Given the description of an element on the screen output the (x, y) to click on. 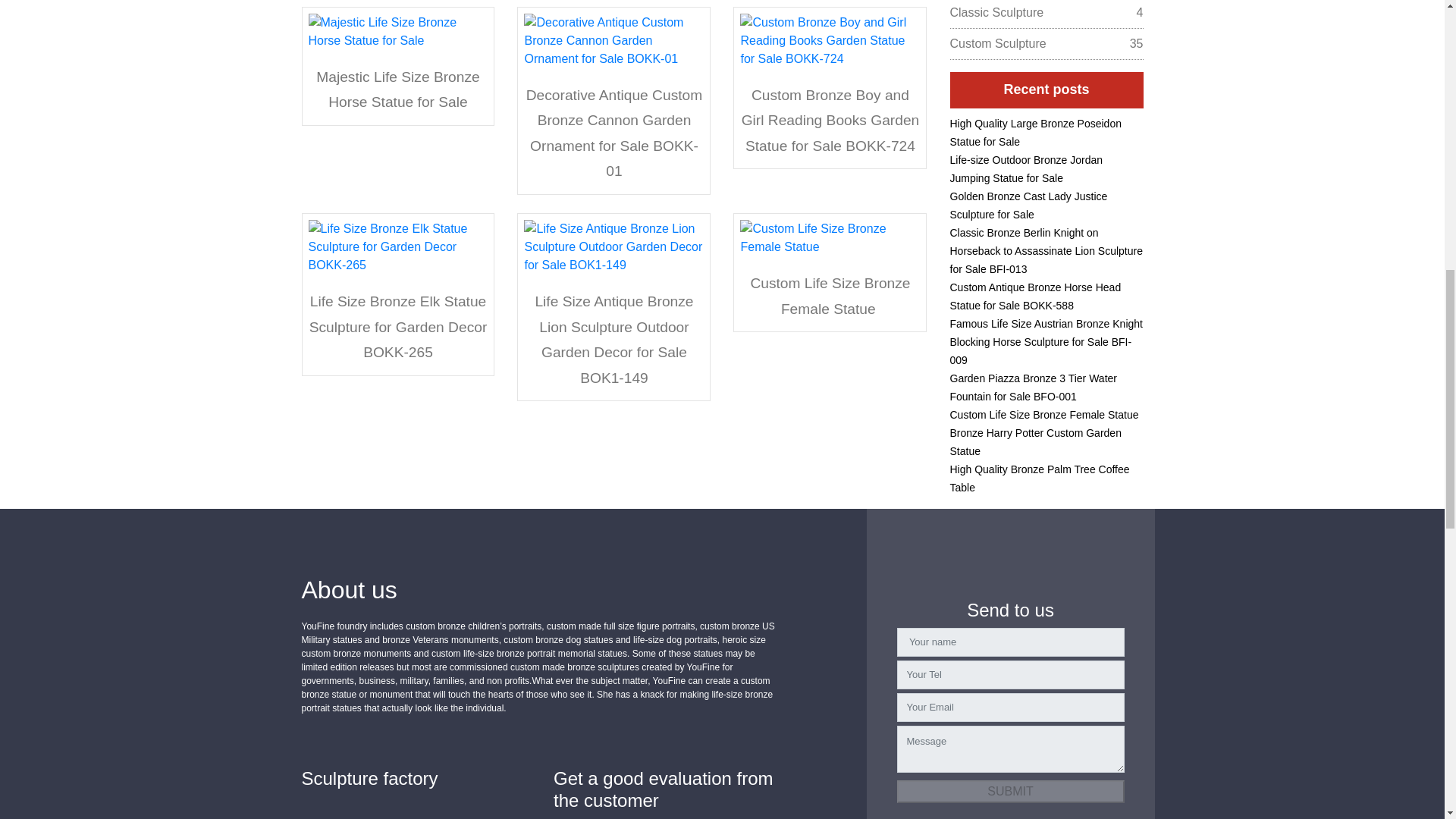
Custom Life Size Bronze Female Statue  (829, 295)
Majestic Life Size Bronze Horse Statue for Sale (397, 89)
Majestic Life Size Bronze Horse Statue for Sale (397, 30)
Majestic Life Size Bronze Horse Statue for Sale (397, 89)
